Given the description of an element on the screen output the (x, y) to click on. 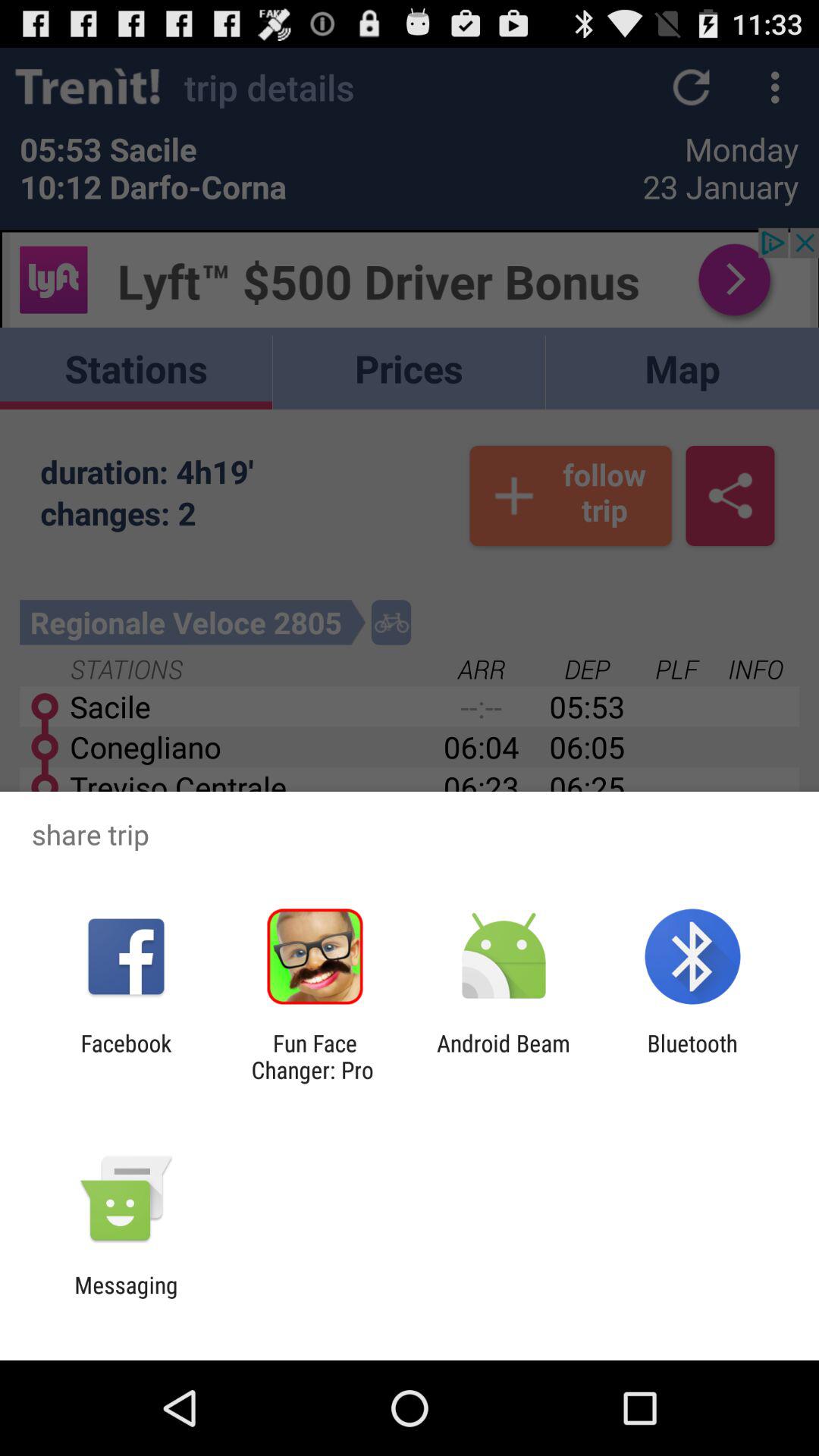
choose the item next to fun face changer item (503, 1056)
